Given the description of an element on the screen output the (x, y) to click on. 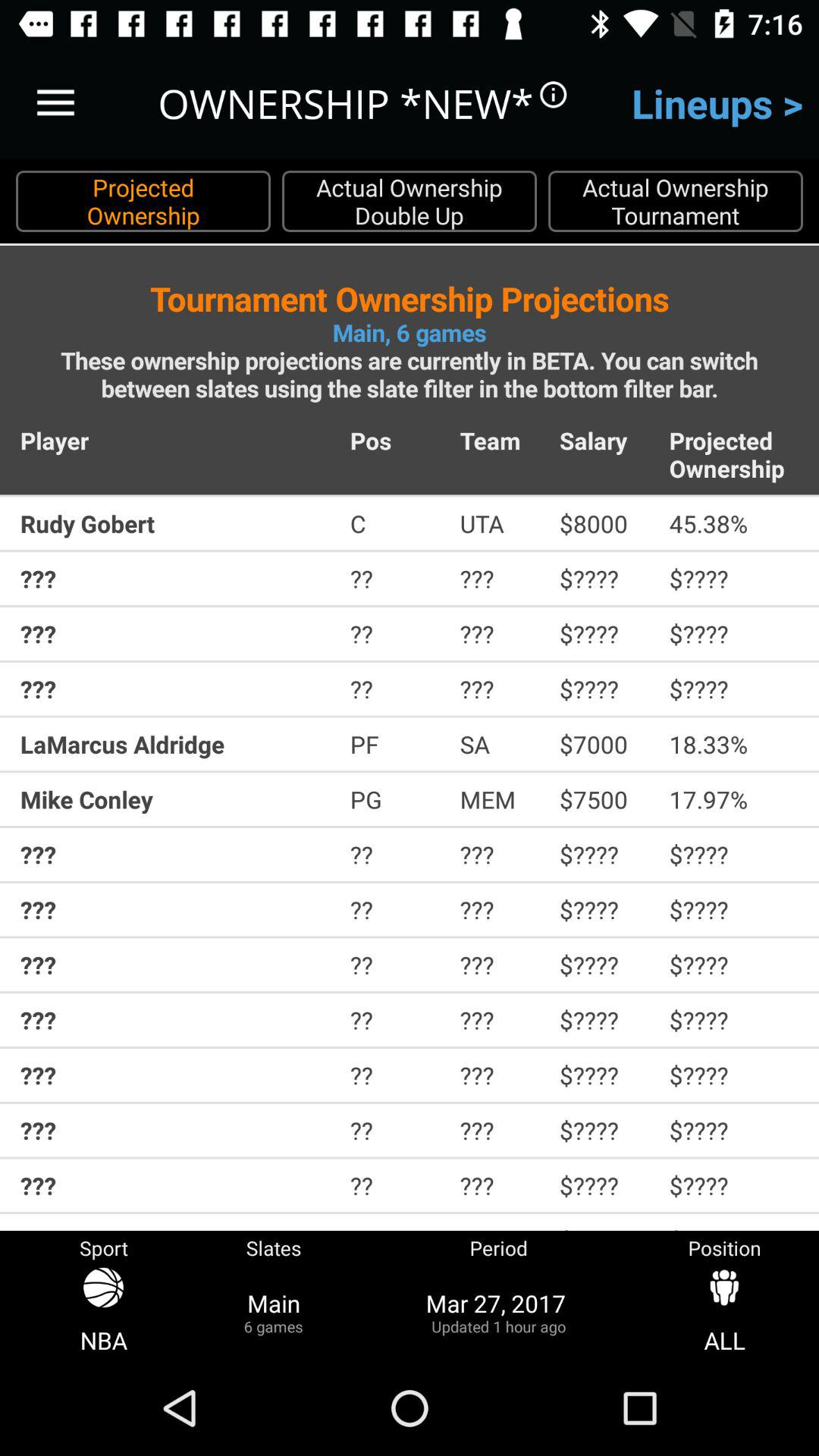
press the lineups > item (717, 103)
